Given the description of an element on the screen output the (x, y) to click on. 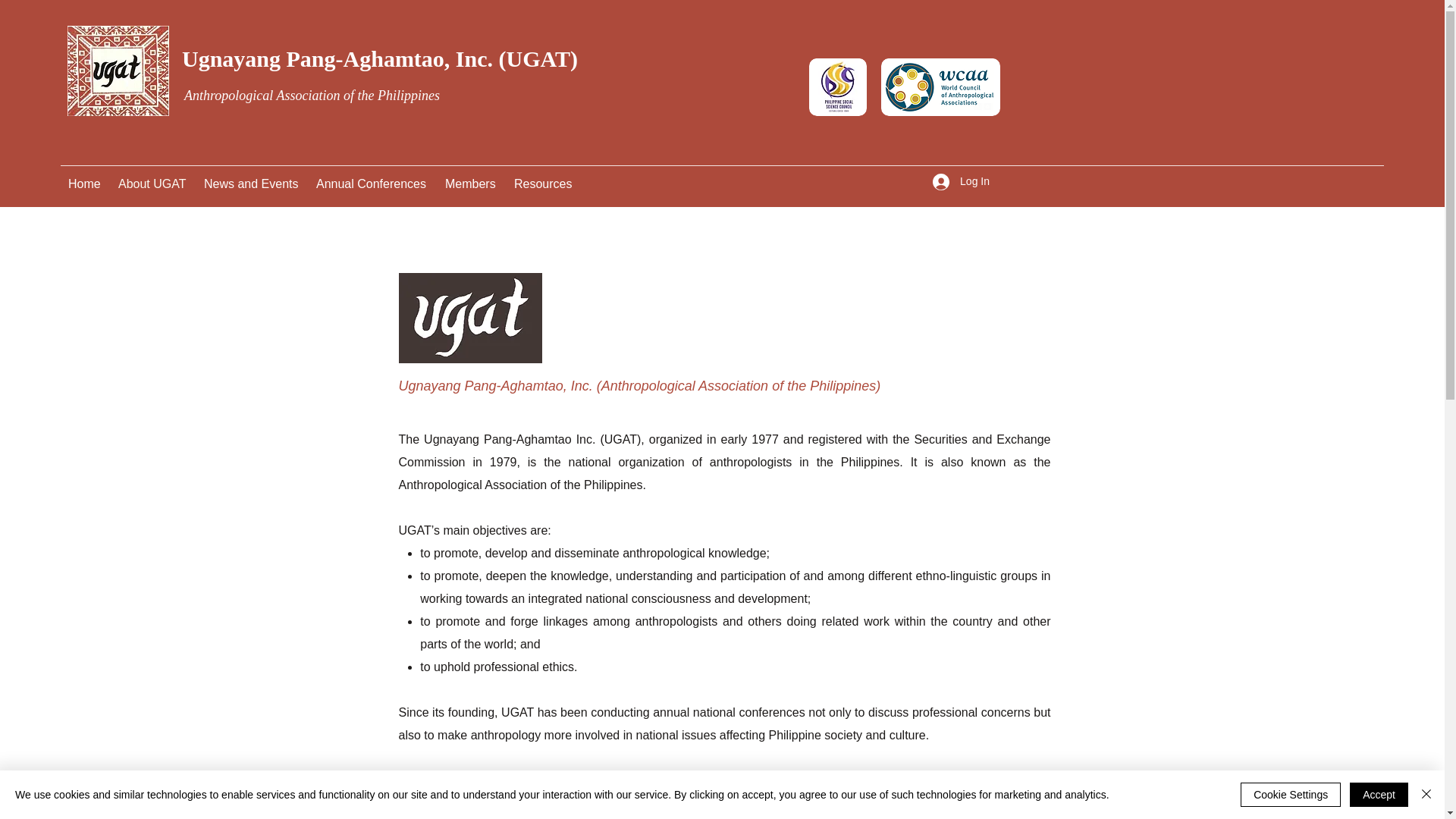
News and Events (252, 183)
Home (85, 183)
About UGAT (153, 183)
Annual Conferences (373, 183)
PSSC logo.jpg (837, 87)
WCAA logo.png (940, 87)
Log In (960, 181)
Philippine Social Science Council (681, 779)
World Council of Anthropological Associations (724, 791)
